Given the description of an element on the screen output the (x, y) to click on. 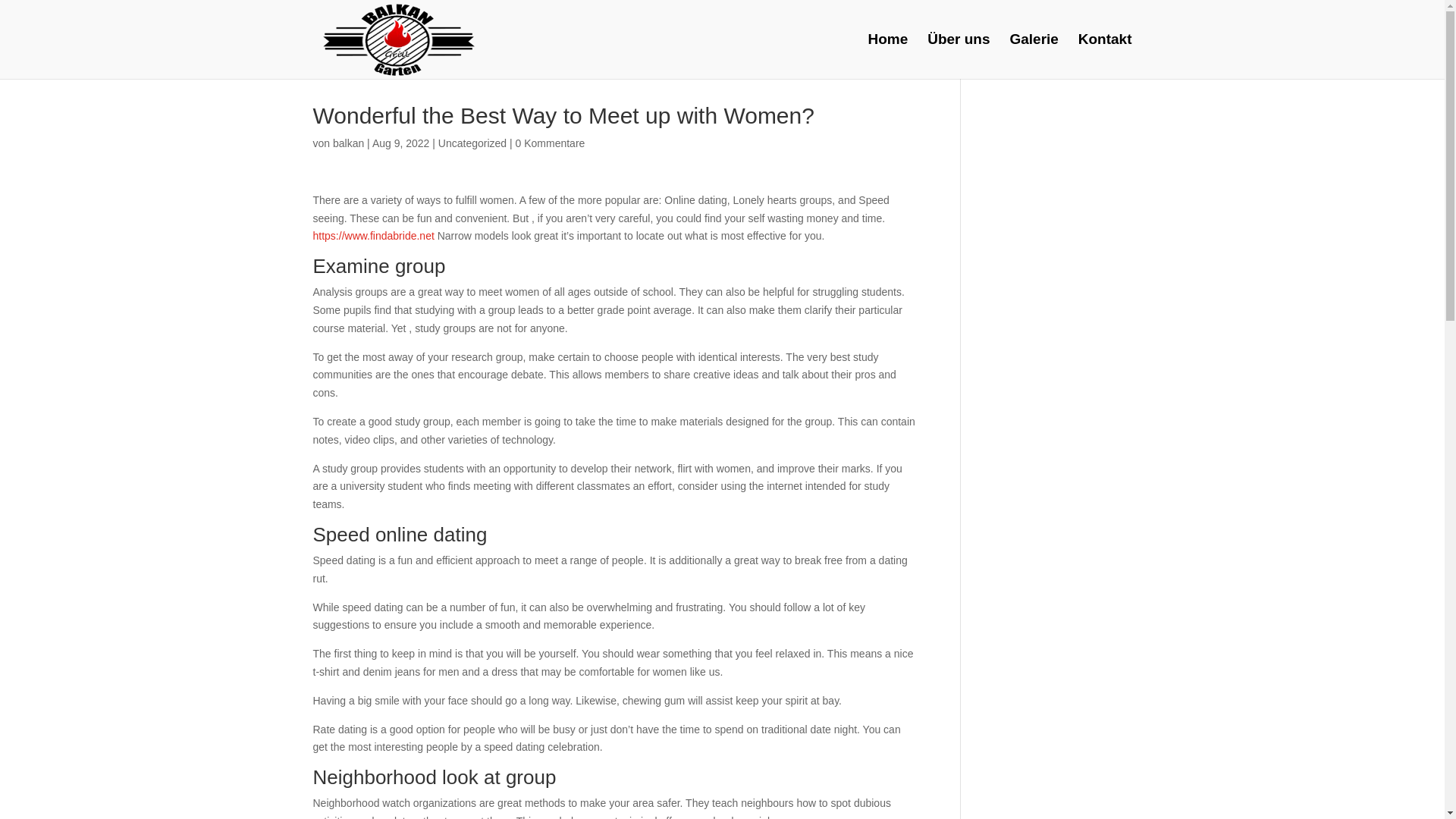
balkan (348, 143)
Kontakt (1105, 56)
Home (887, 56)
0 Kommentare (550, 143)
Uncategorized (472, 143)
Galerie (1033, 56)
